Given the description of an element on the screen output the (x, y) to click on. 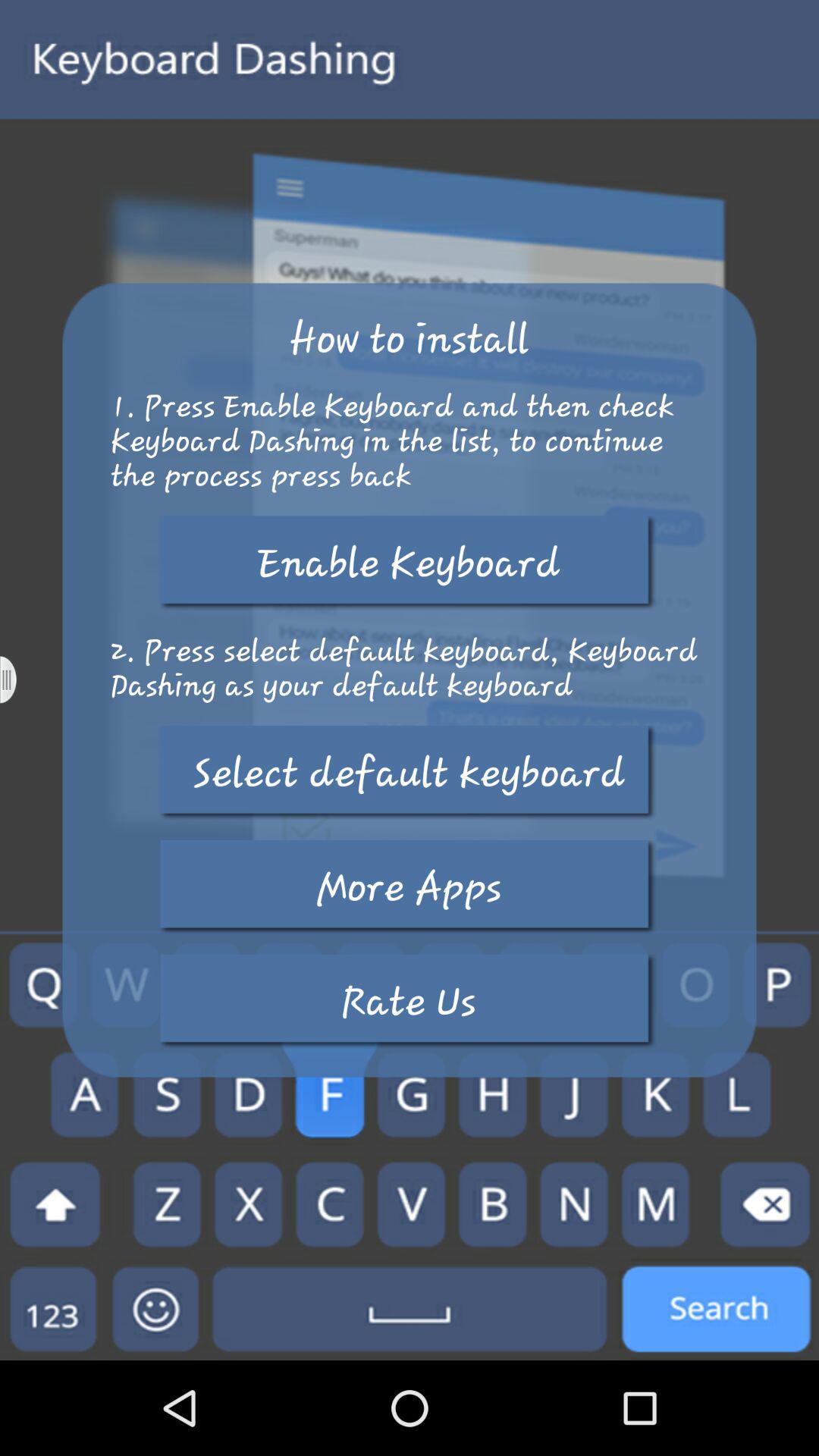
tap item on the left (18, 679)
